Given the description of an element on the screen output the (x, y) to click on. 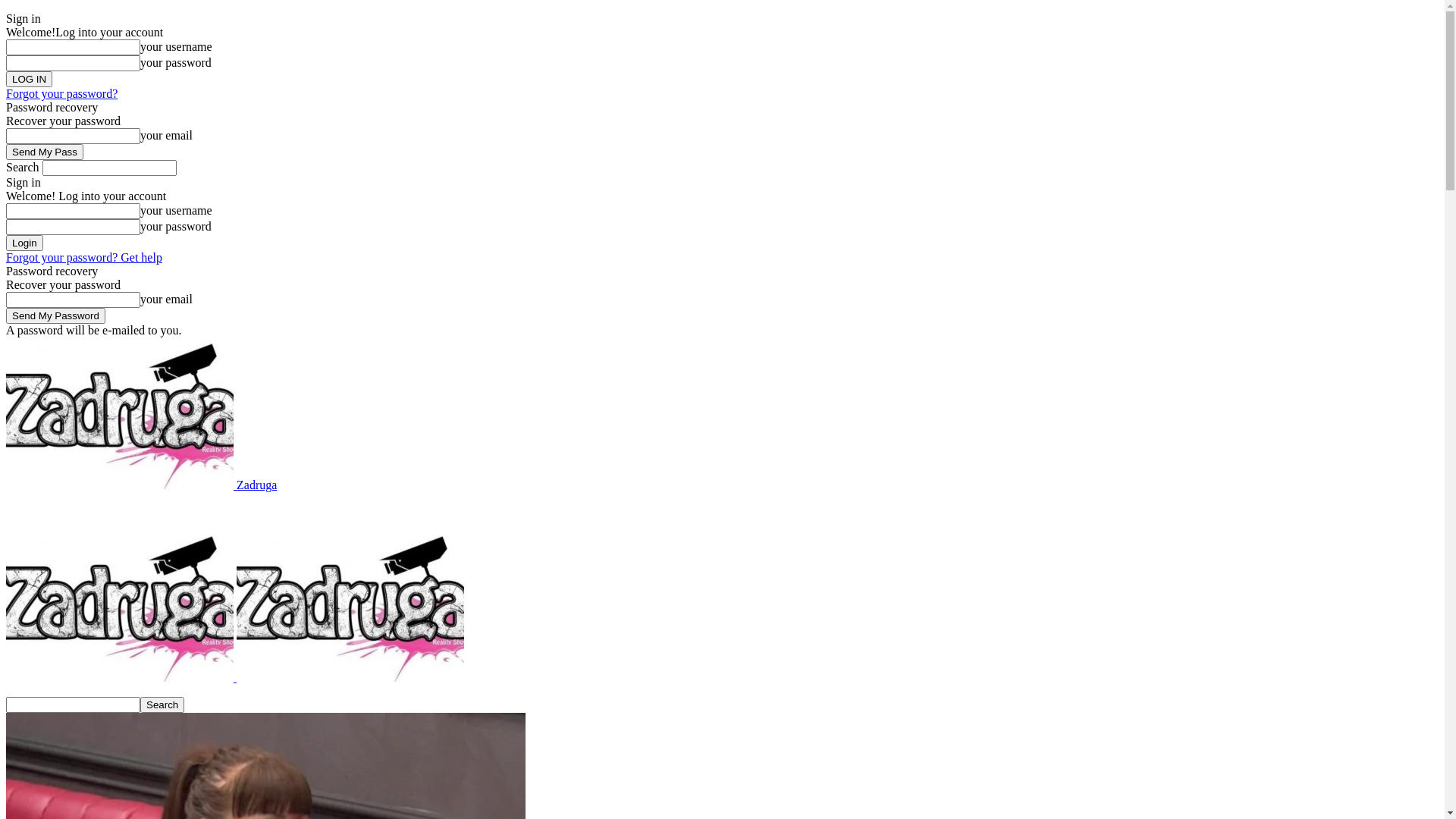
Forgot your password? Element type: text (61, 93)
Search Element type: text (162, 704)
Forgot your password? Get help Element type: text (84, 257)
Zadruga Element type: text (141, 484)
